Given the description of an element on the screen output the (x, y) to click on. 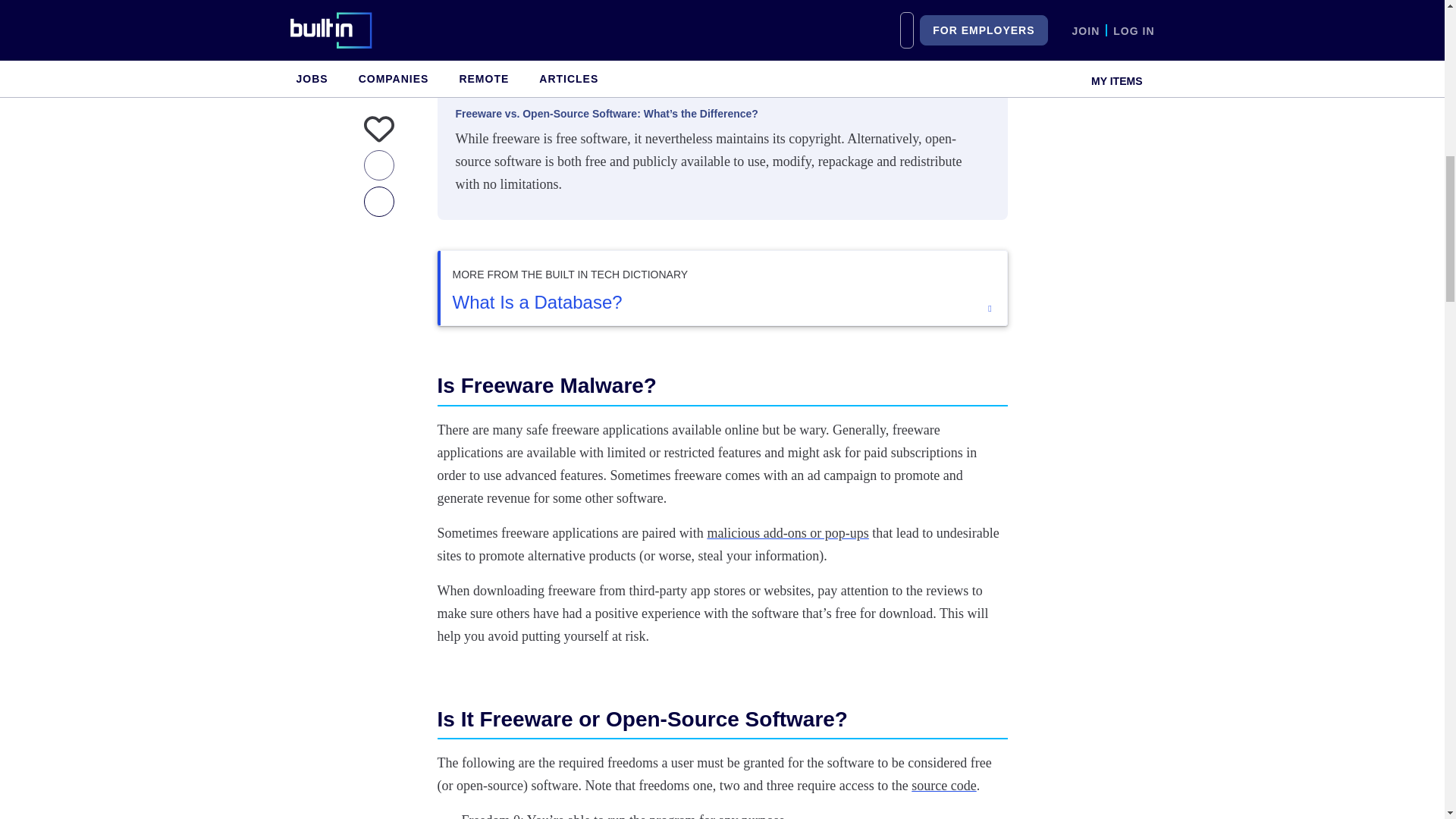
What Is a Database? (722, 301)
malicious add-ons or pop-ups (786, 532)
source code (943, 785)
